Given the description of an element on the screen output the (x, y) to click on. 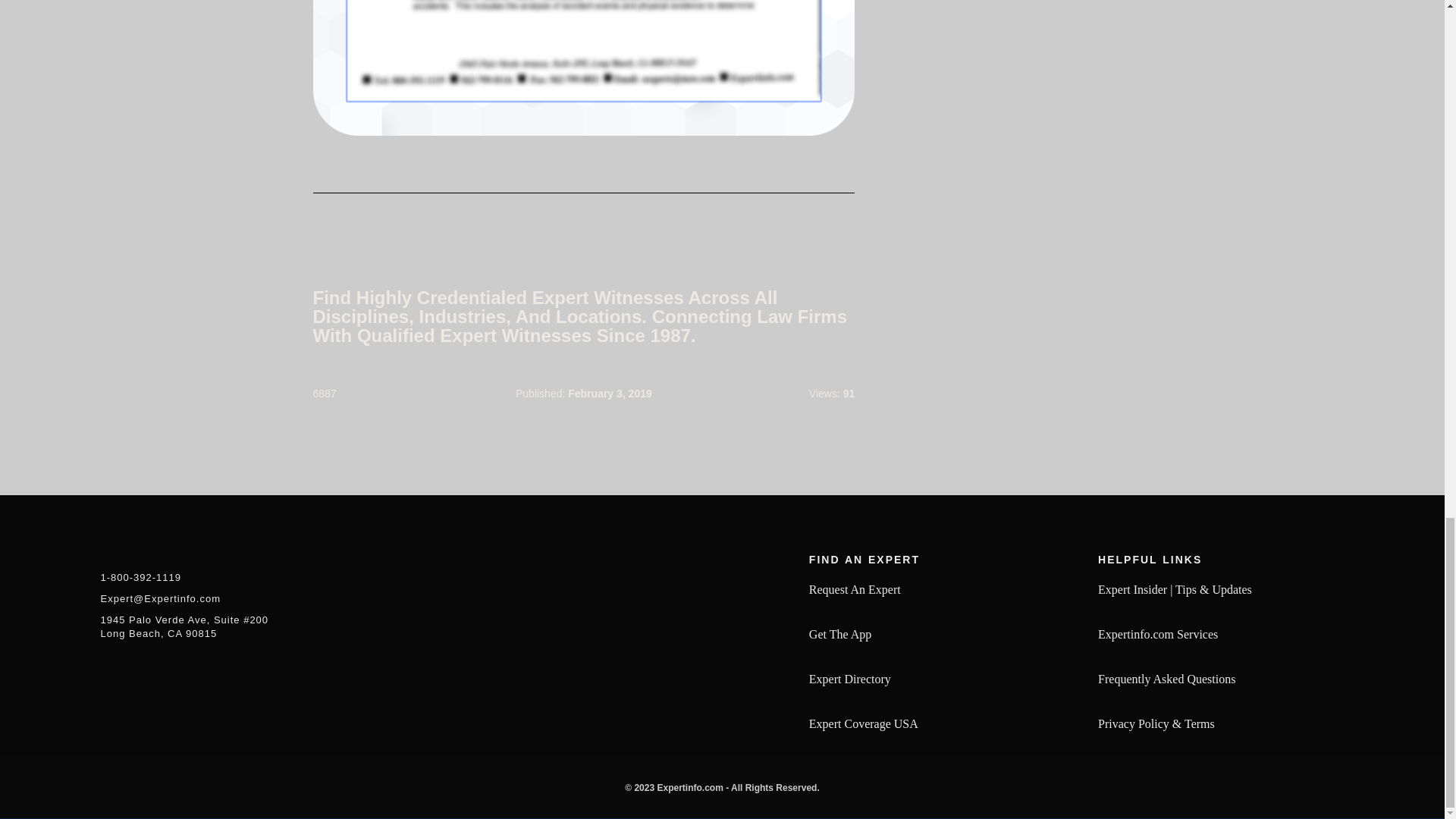
Request An Expert (855, 589)
Frequently Asked Questions (1165, 679)
Get The App (839, 634)
1-800-392-1119 (140, 579)
Expert Directory (850, 679)
Expertinfo.com Services (1157, 634)
Expert Coverage USA (863, 723)
